Given the description of an element on the screen output the (x, y) to click on. 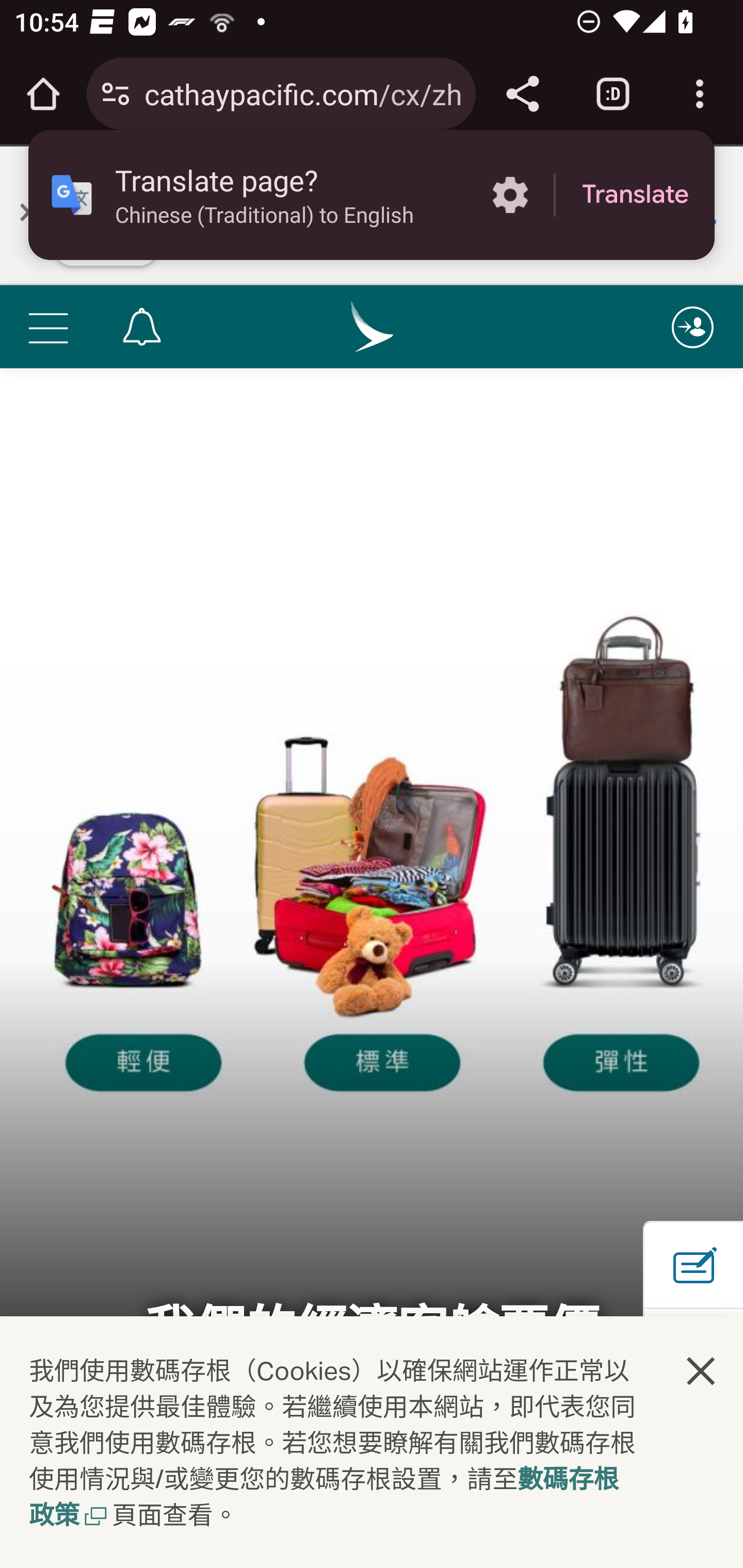
Open the home page (43, 93)
Connection is secure (115, 93)
Share (522, 93)
Switch or close tabs (612, 93)
Customize and control Google Chrome (699, 93)
Translate (634, 195)
More options in the Translate page? (509, 195)
× (28, 211)
功能表 (47, 327)
通告中心 (141, 327)
zh_HK (372, 327)
關閉 (701, 1370)
數碼存根政策, 在新窗口中打开 數碼存根政策 開啟新視窗 (323, 1498)
